Given the description of an element on the screen output the (x, y) to click on. 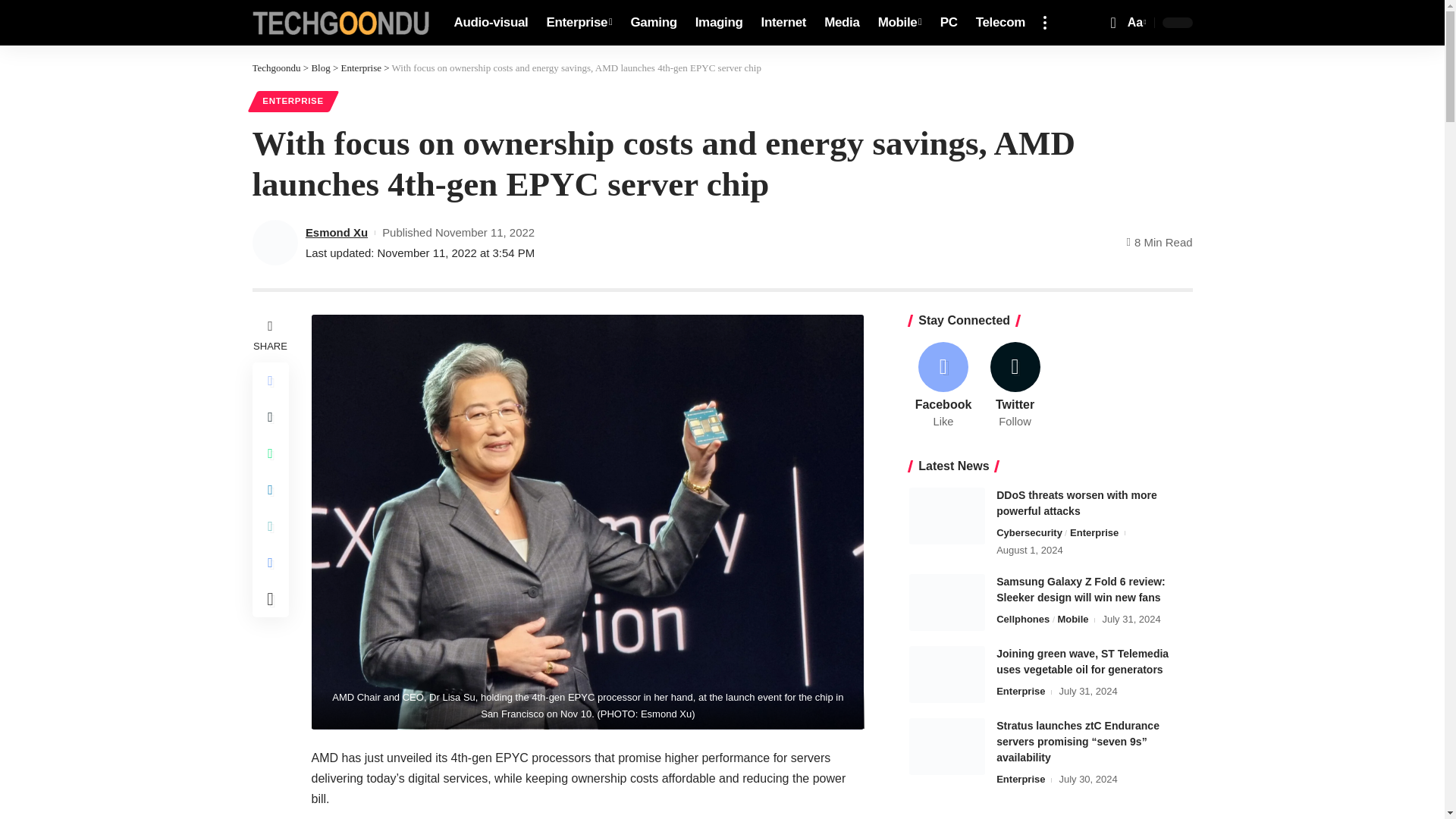
Go to Blog. (1135, 22)
Audio-visual (320, 67)
Techgoondu (490, 22)
Mobile (340, 22)
Internet (900, 22)
DDoS threats worsen with more powerful attacks (783, 22)
Go to the Enterprise Category archives. (946, 515)
Enterprise (360, 67)
Telecom (579, 22)
Media (999, 22)
Gaming (841, 22)
Imaging (653, 22)
